Given the description of an element on the screen output the (x, y) to click on. 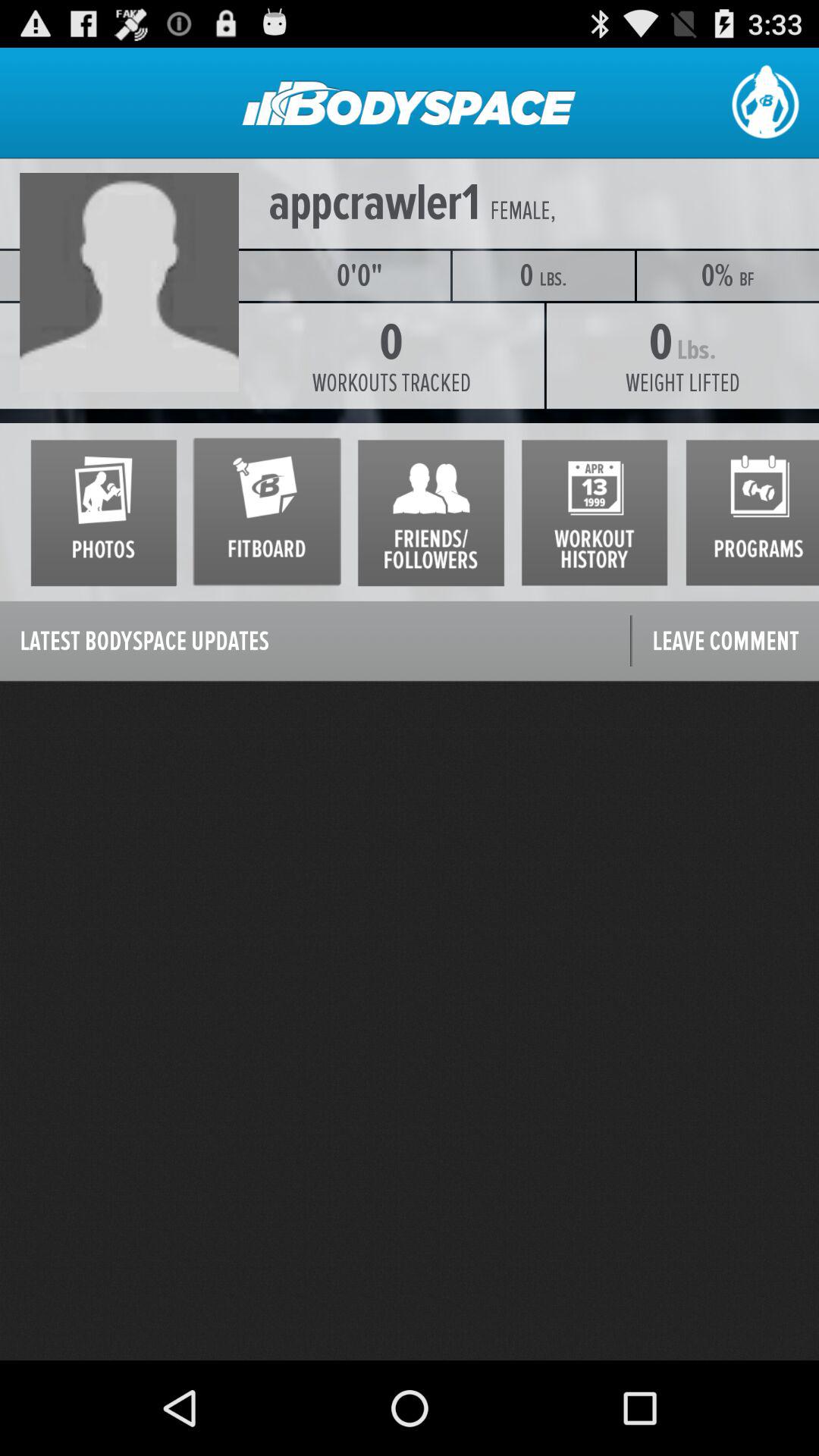
click icon next to leave comment icon (316, 641)
